Given the description of an element on the screen output the (x, y) to click on. 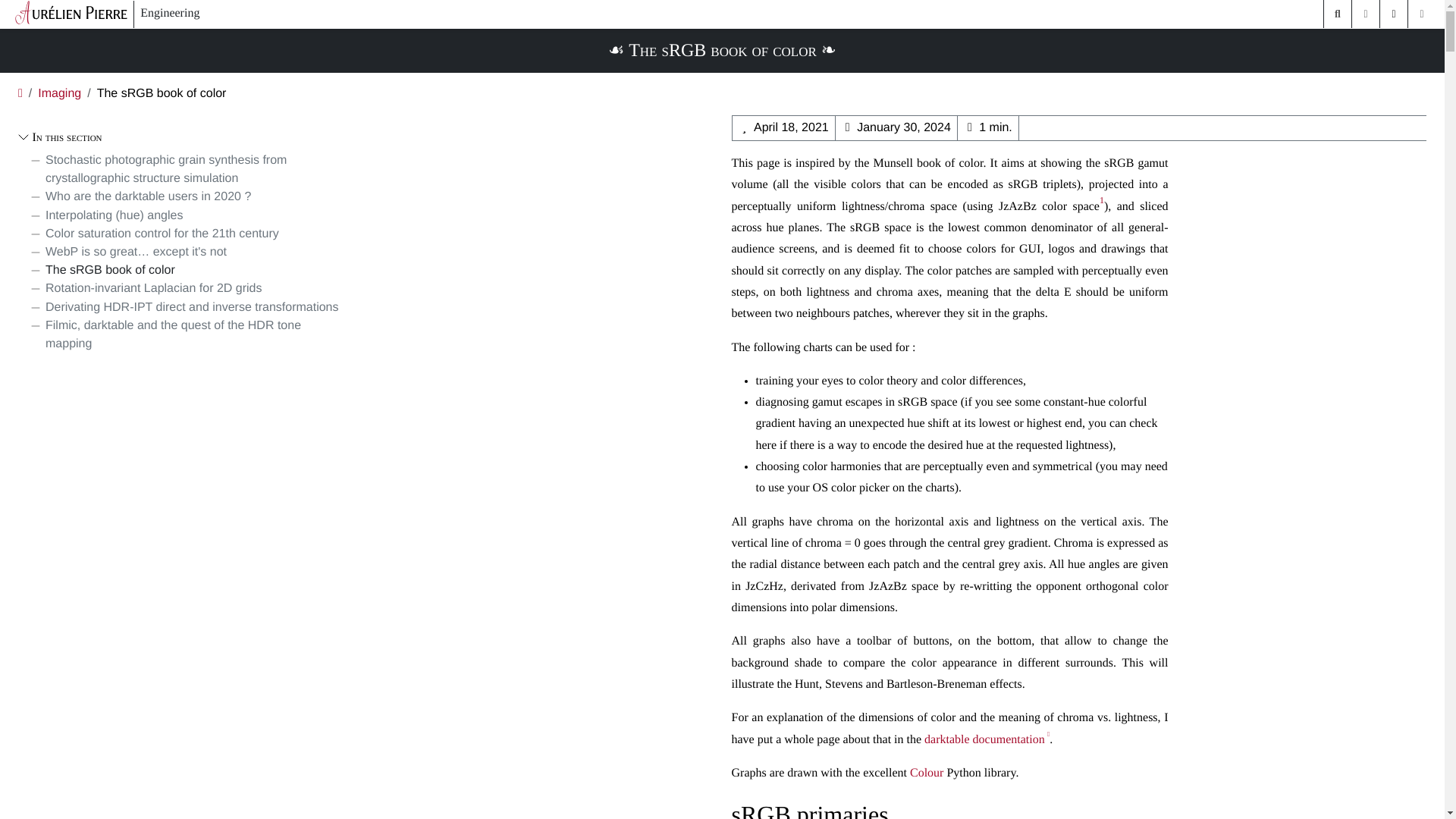
Colour (926, 772)
Color saturation control for the 21th century (153, 234)
Navigation (1421, 13)
Rotation-invariant Laplacian for 2D grids (144, 289)
Last modification date (903, 127)
Imaging (59, 92)
Filmic, darktable and the quest of the HDR tone mapping (185, 334)
darktable documentation (986, 738)
Contact (1393, 13)
